Given the description of an element on the screen output the (x, y) to click on. 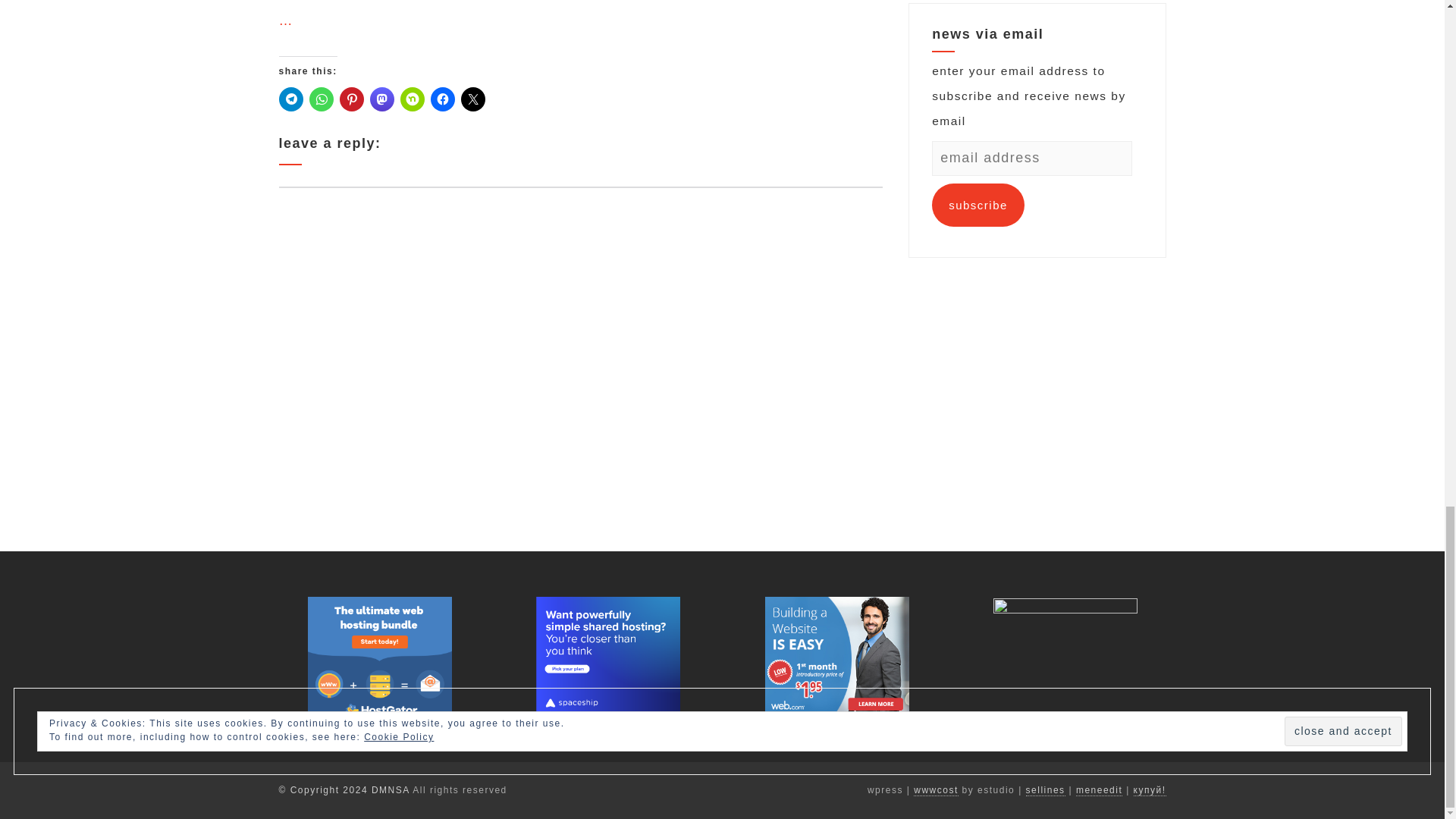
Click to share on Facebook (442, 98)
meneedit (1098, 790)
Click to share on WhatsApp (320, 98)
Click to share on X (472, 98)
Click to share on Mastodon (381, 98)
subscribe (978, 204)
Click to share on Nextdoor (412, 98)
wwwcost (936, 790)
sellines (1045, 790)
